Given the description of an element on the screen output the (x, y) to click on. 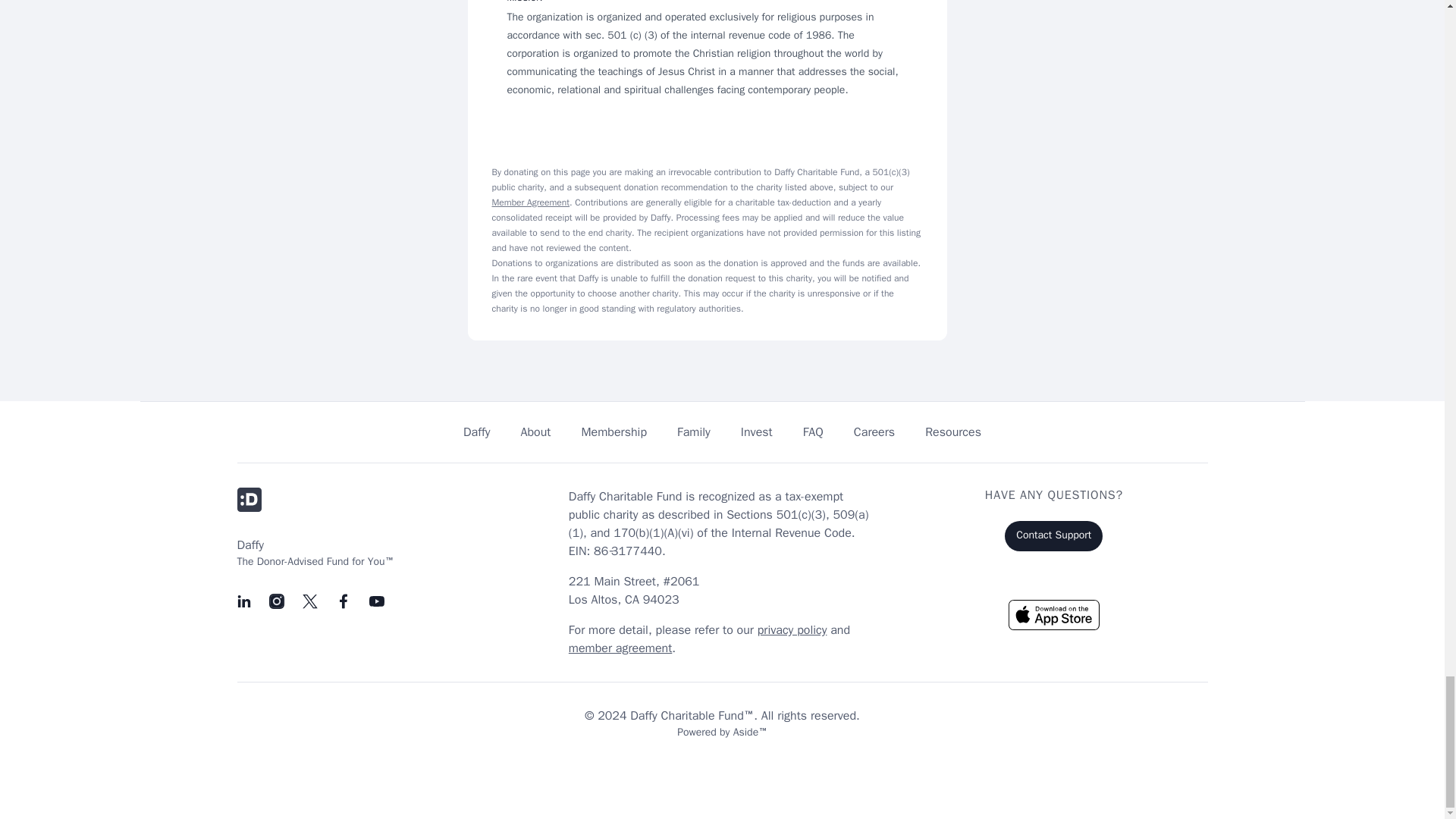
Member Agreement (530, 202)
